Given the description of an element on the screen output the (x, y) to click on. 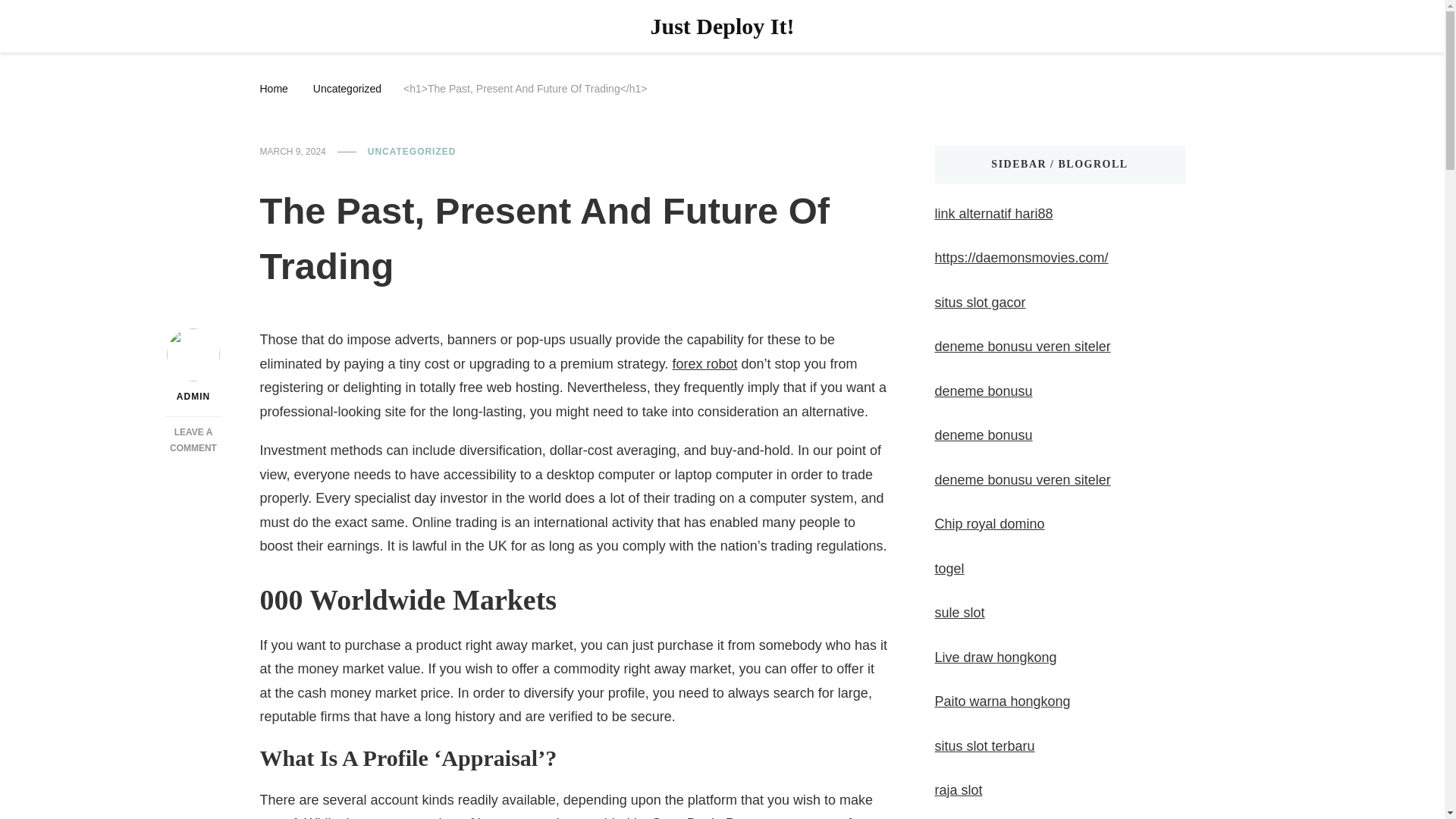
Live draw hongkong (995, 656)
situs slot gacor (979, 301)
deneme bonusu (983, 391)
togel (948, 568)
deneme bonusu veren siteler (193, 439)
deneme bonusu (1021, 478)
Chip royal domino (983, 435)
UNCATEGORIZED (988, 523)
deneme bonusu veren siteler (412, 151)
